Given the description of an element on the screen output the (x, y) to click on. 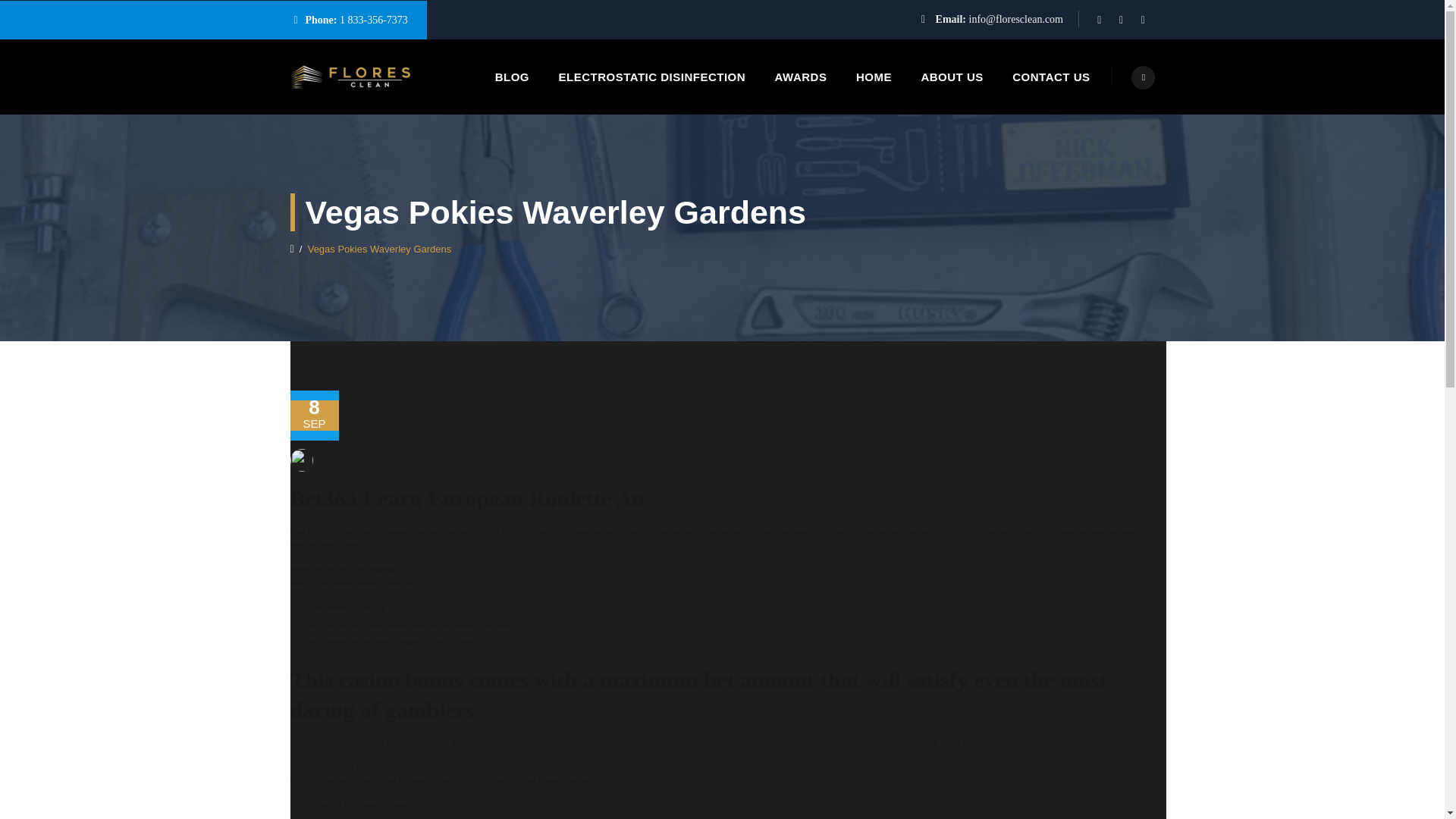
Best 10 Cent Pokies Casinos In Australia (351, 582)
ABOUT US (951, 76)
Flores Cleaning Services (351, 76)
24 Hour Pokies Near Traralgon (337, 766)
CONTACT US (1050, 76)
ELECTROSTATIC DISINFECTION (651, 76)
AWARDS (801, 76)
Money Pokies Bonus No Wagering (342, 569)
